Given the description of an element on the screen output the (x, y) to click on. 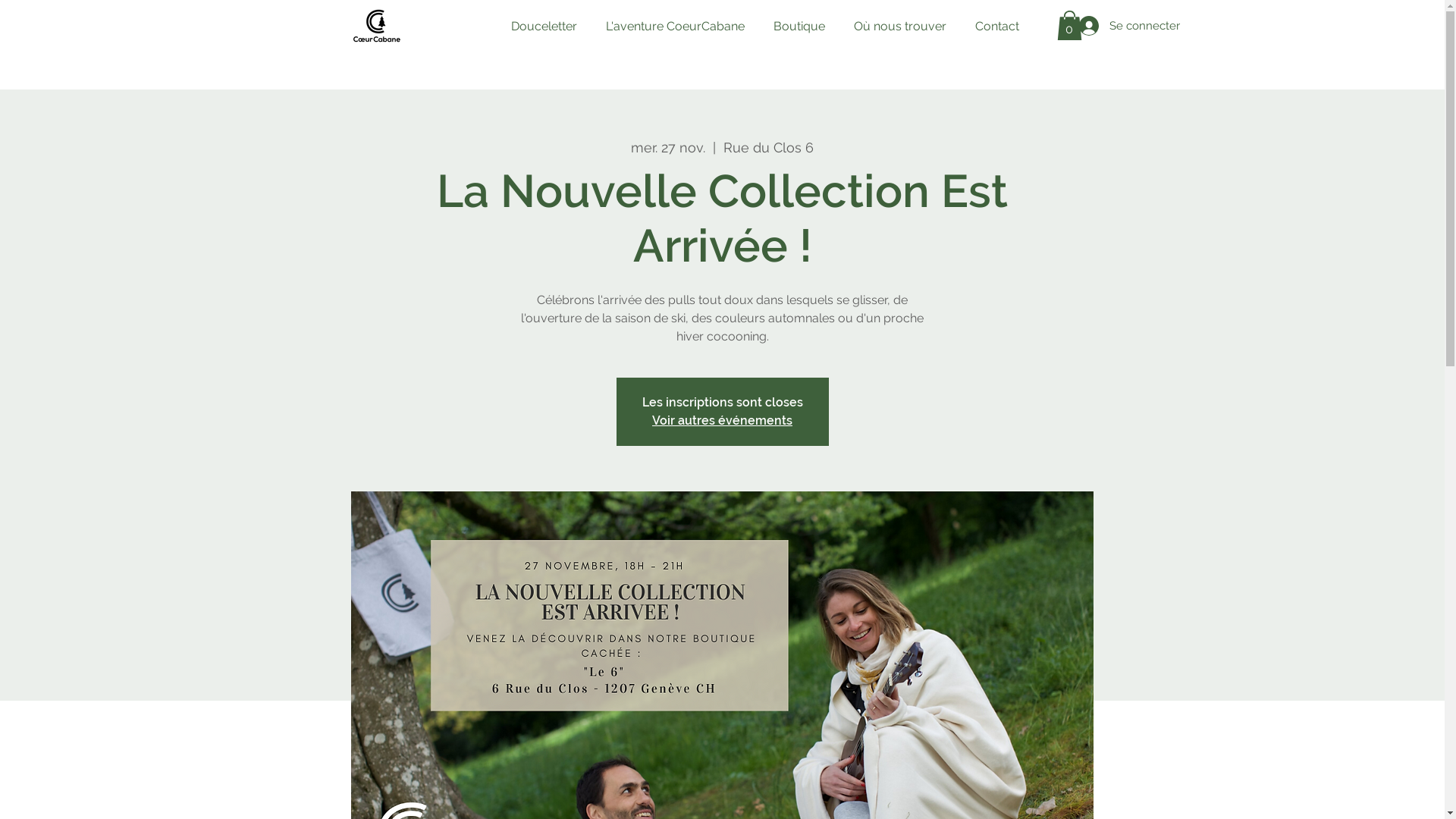
Contact Element type: text (996, 26)
0 Element type: text (1069, 25)
Boutique Element type: text (798, 26)
Douceletter Element type: text (542, 26)
Se connecter Element type: text (1112, 25)
